Given the description of an element on the screen output the (x, y) to click on. 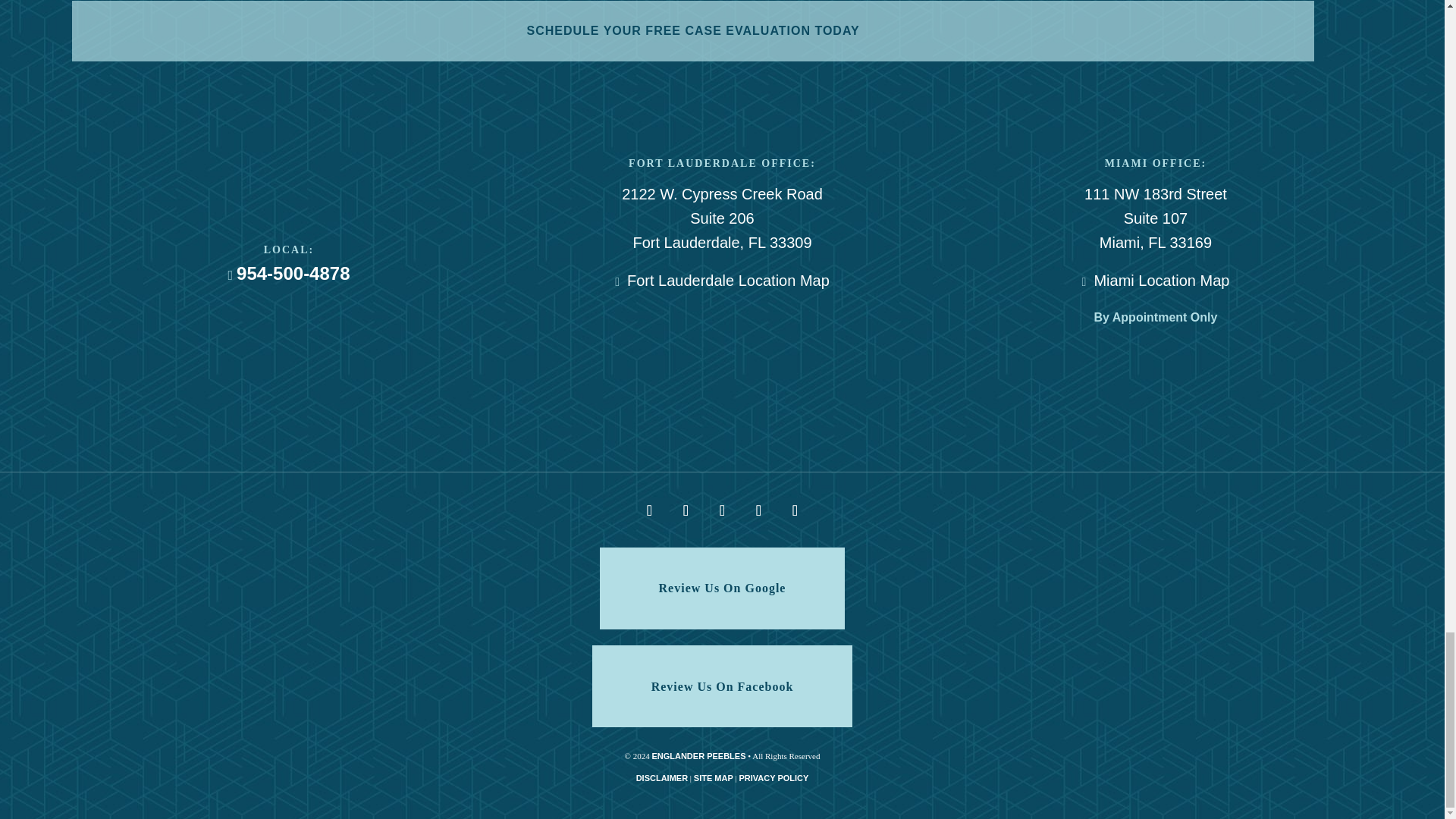
Follow on Instagram (793, 510)
Follow on Youtube (757, 510)
Follow on Facebook (648, 510)
Fort Lauderdale Personal Injury Lawyers Logo (288, 171)
Follow on Twitter (721, 510)
Follow on LinkedIn (684, 510)
Submit Form (692, 30)
